Given the description of an element on the screen output the (x, y) to click on. 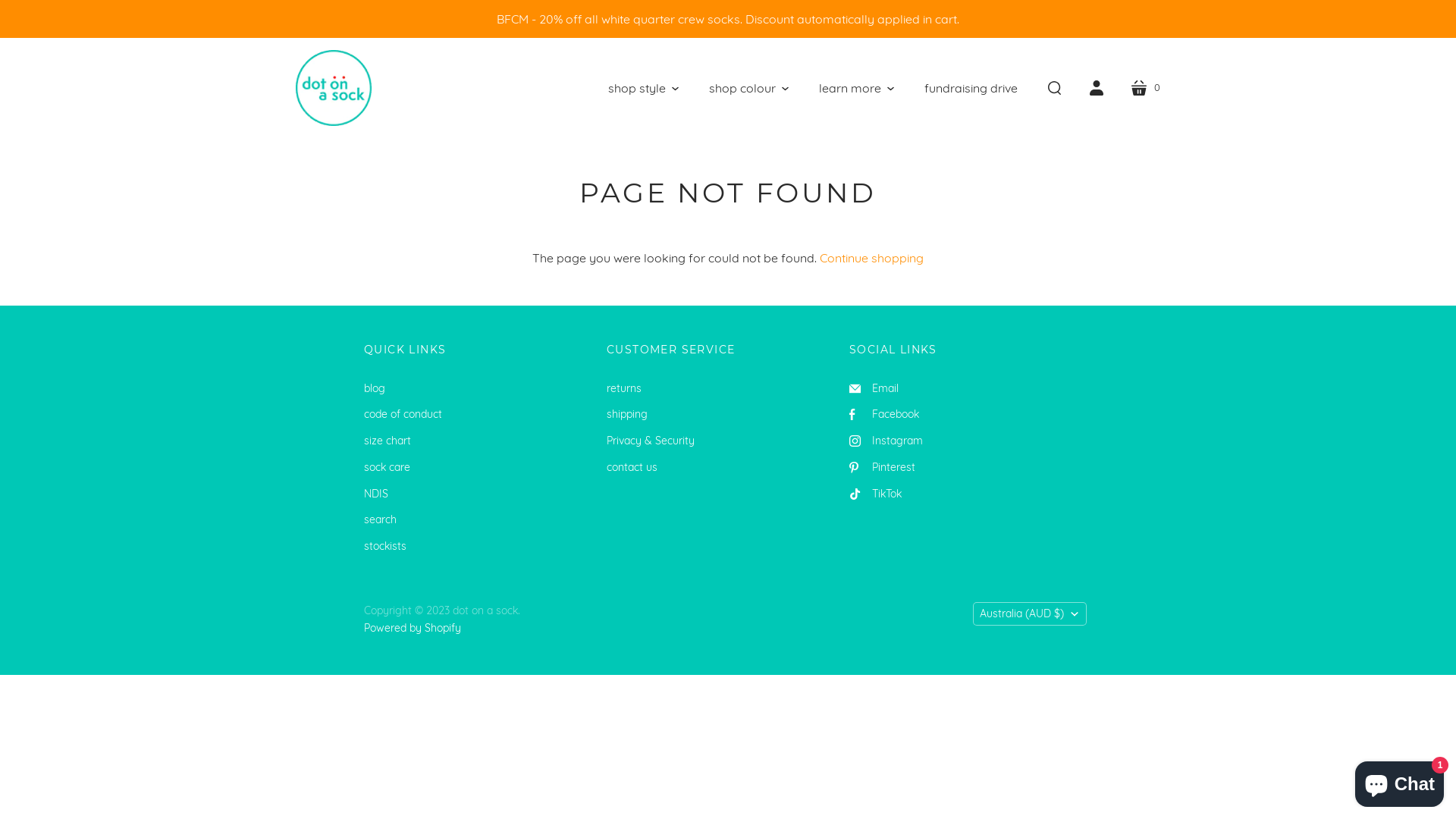
returns Element type: text (623, 387)
size chart Element type: text (387, 440)
Instagram Element type: text (885, 440)
search Element type: text (1053, 87)
account Element type: text (1096, 87)
search Element type: text (380, 519)
sock care Element type: text (387, 466)
Powered by Shopify Element type: text (412, 626)
Privacy & Security Element type: text (650, 440)
Continue shopping Element type: text (871, 257)
Facebook Element type: text (884, 413)
NDIS Element type: text (376, 493)
cart
0 Element type: text (1144, 87)
Australia (AUD $) Element type: text (1028, 614)
stockists Element type: text (385, 545)
contact us Element type: text (631, 466)
code of conduct Element type: text (403, 413)
Shopify online store chat Element type: hover (1399, 780)
TikTok Element type: text (875, 493)
blog Element type: text (374, 387)
Email Element type: text (873, 387)
fundraising drive Element type: text (970, 87)
shipping Element type: text (626, 413)
Pinterest Element type: text (882, 466)
